Given the description of an element on the screen output the (x, y) to click on. 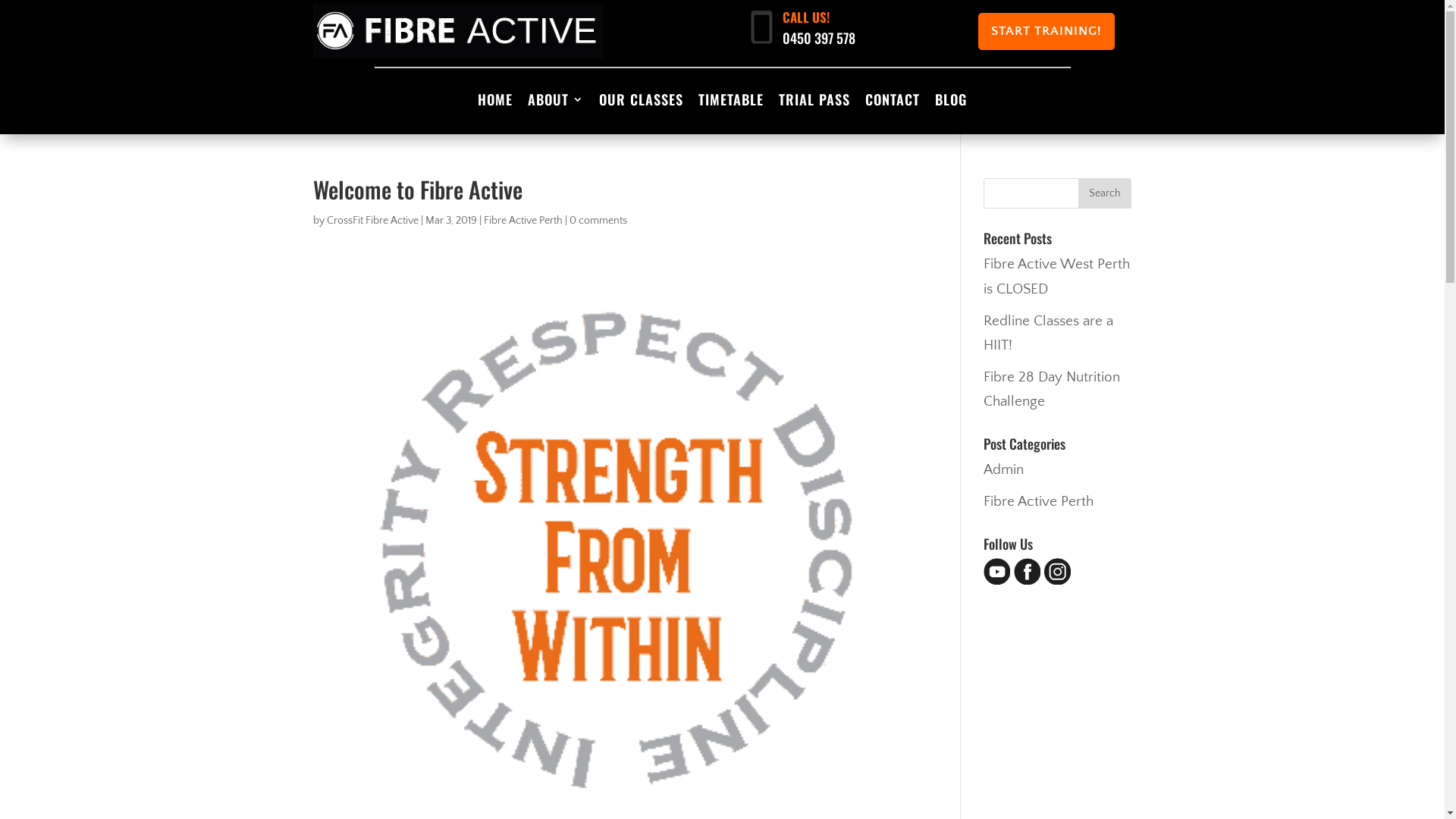
0 comments Element type: text (597, 220)
Fibre Active West Perth is CLOSED Element type: text (1056, 276)
CALL US!
0450 397 578 Element type: text (816, 39)
HOME Element type: text (494, 102)
START TRAINING! Element type: text (1046, 31)
Fibre-Active--Functional-Fitness-West-Perth Element type: hover (457, 31)
TIMETABLE Element type: text (730, 102)
CrossFit Fibre Active Element type: text (371, 220)
CONTACT Element type: text (892, 102)
OUR CLASSES Element type: text (641, 102)
BLOG Element type: text (950, 102)
Fibre 28 Day Nutrition Challenge Element type: text (1051, 389)
Fibre Active Perth Element type: text (522, 220)
ABOUT Element type: text (555, 102)
Redline Classes are a HIIT! Element type: text (1048, 333)
Watch Perth Crossfit WA 600 Element type: hover (996, 580)
Follow us on Instagram Element type: hover (1057, 580)
TRIAL PASS Element type: text (814, 102)
Connect with Crossfit Fibre Active Perth Element type: hover (1026, 580)
Search Element type: text (1104, 193)
Admin Element type: text (1003, 469)
Fibre Active Perth Element type: text (1038, 501)
